Given the description of an element on the screen output the (x, y) to click on. 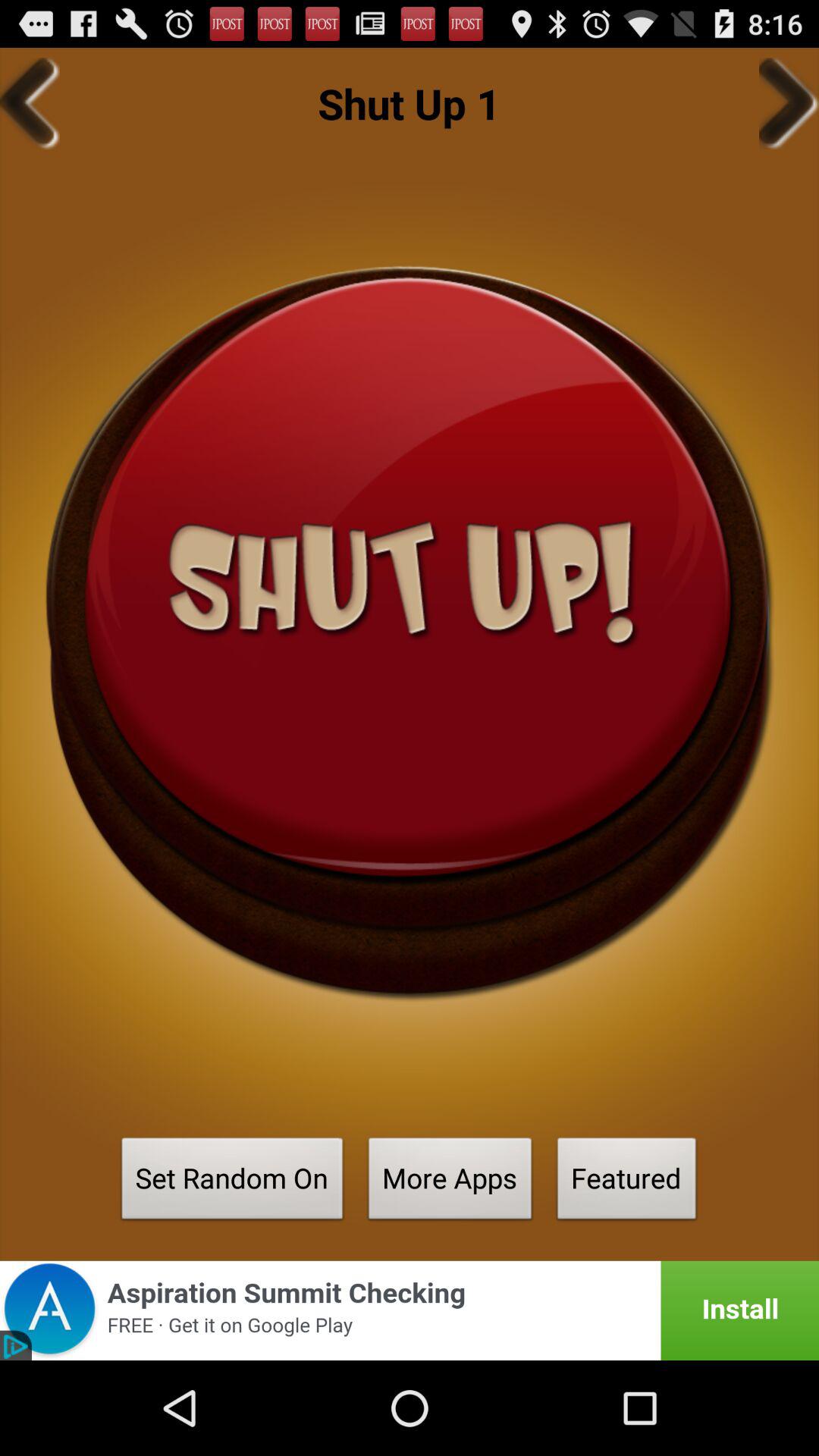
tap the icon to the left of featured button (450, 1182)
